Given the description of an element on the screen output the (x, y) to click on. 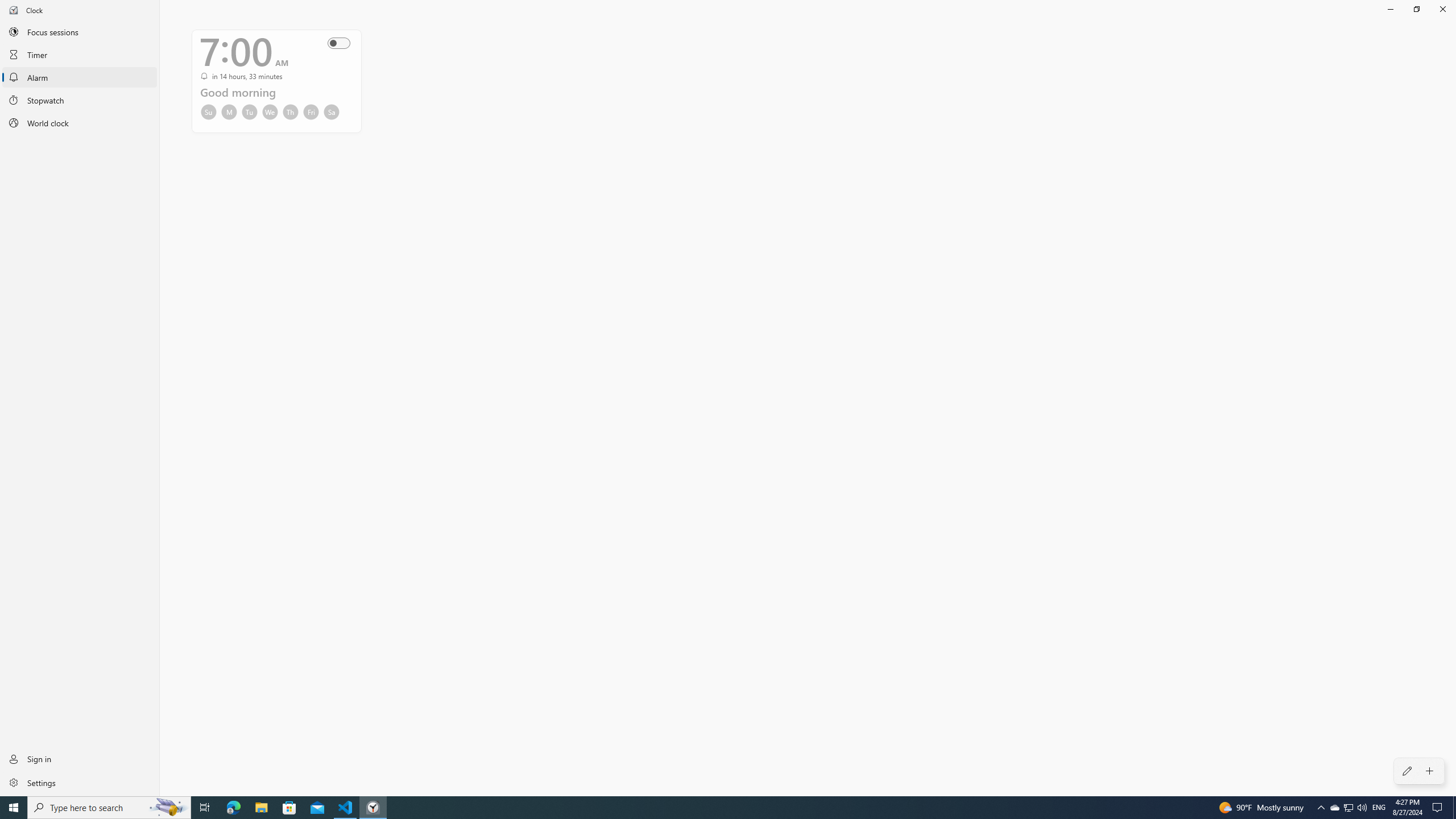
Minimize Clock (1390, 9)
